Given the description of an element on the screen output the (x, y) to click on. 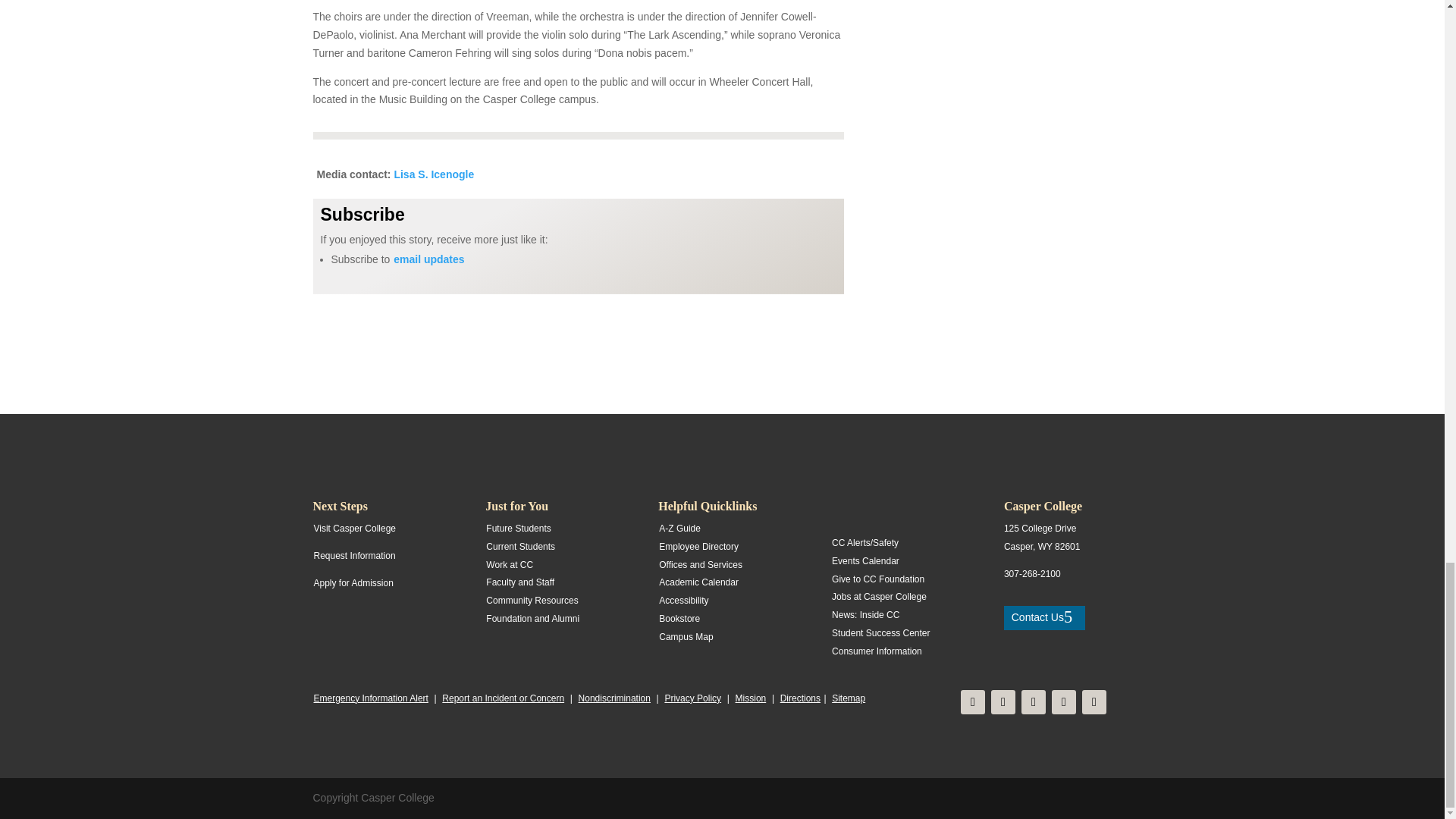
Follow on LinkedIn (1093, 702)
Follow on Youtube (1063, 702)
Follow on X (1033, 702)
Follow on Facebook (972, 702)
Follow on Instagram (1002, 702)
